Given the description of an element on the screen output the (x, y) to click on. 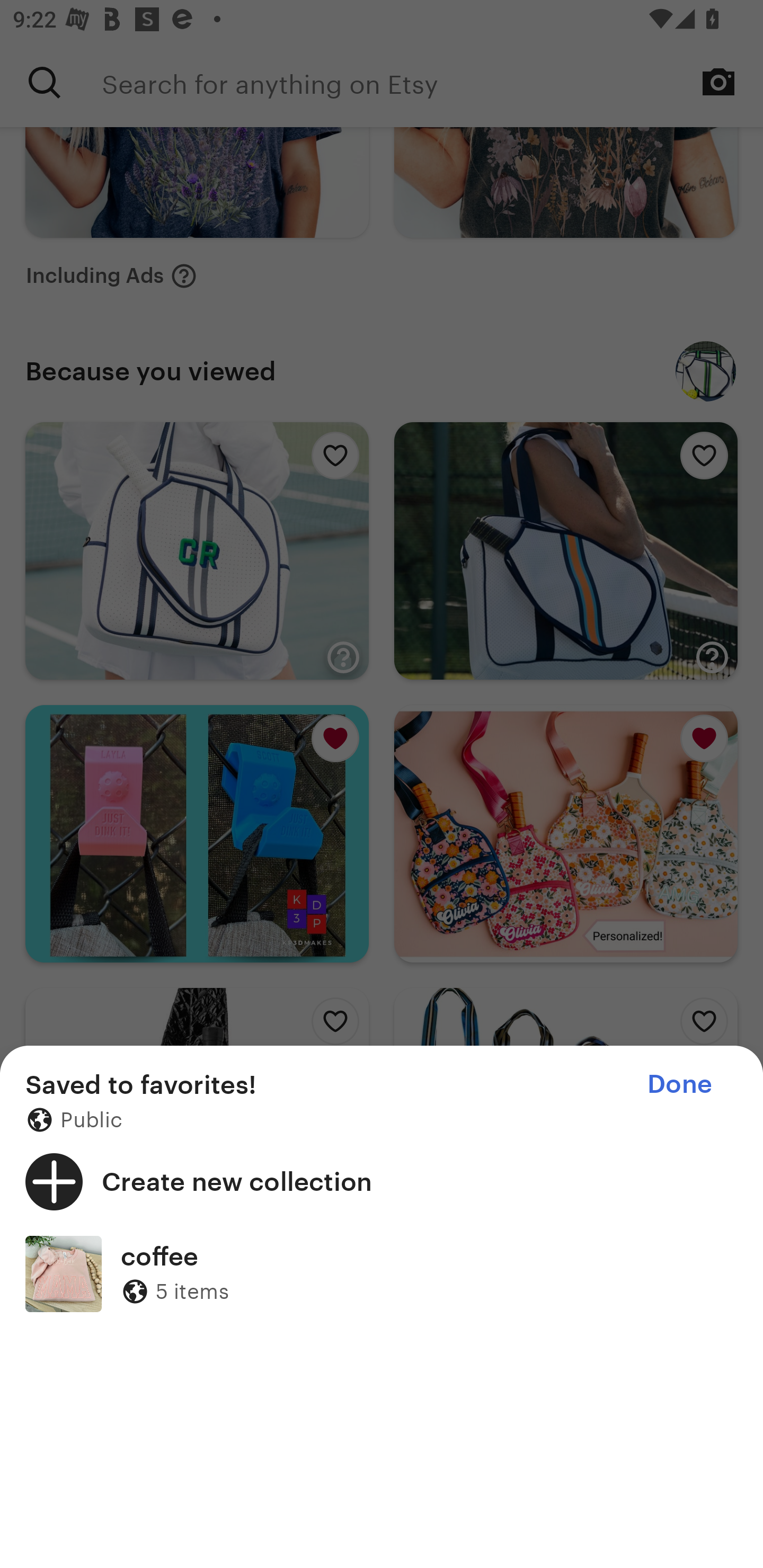
Done (679, 1083)
Create new collection (381, 1181)
coffee 5 items (381, 1273)
